Given the description of an element on the screen output the (x, y) to click on. 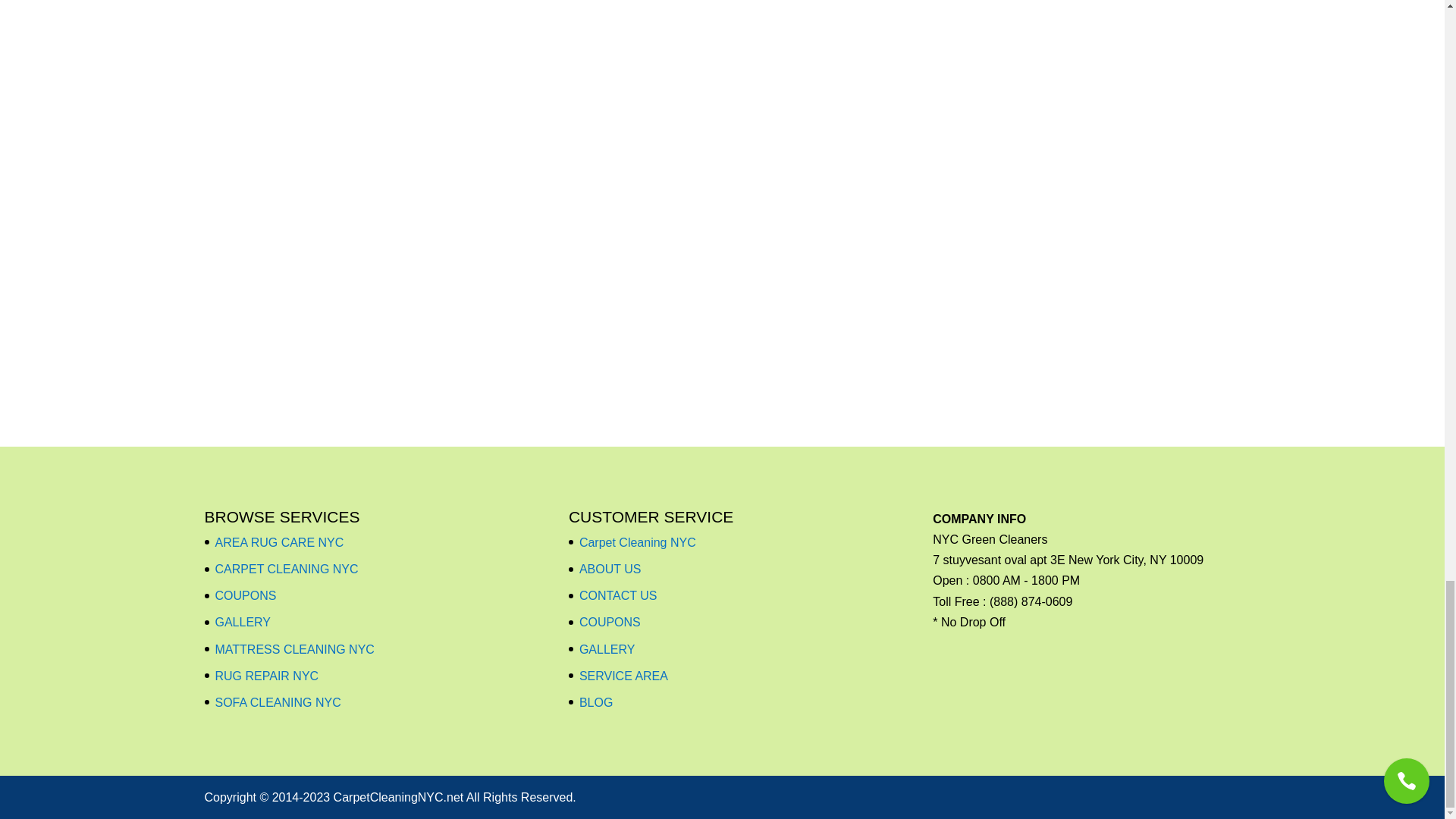
GALLERY (242, 621)
SOFA CLEANING NYC (277, 702)
GALLERY (606, 649)
MATTRESS CLEANING NYC (294, 649)
RUG REPAIR NYC (266, 675)
AREA RUG CARE NYC (279, 542)
CARPET CLEANING NYC (286, 568)
Carpet Cleaning NYC (637, 542)
BLOG (595, 702)
CONTACT US (618, 594)
COUPONS (245, 594)
COUPONS (609, 621)
ABOUT US (610, 568)
SERVICE AREA (623, 675)
